Given the description of an element on the screen output the (x, y) to click on. 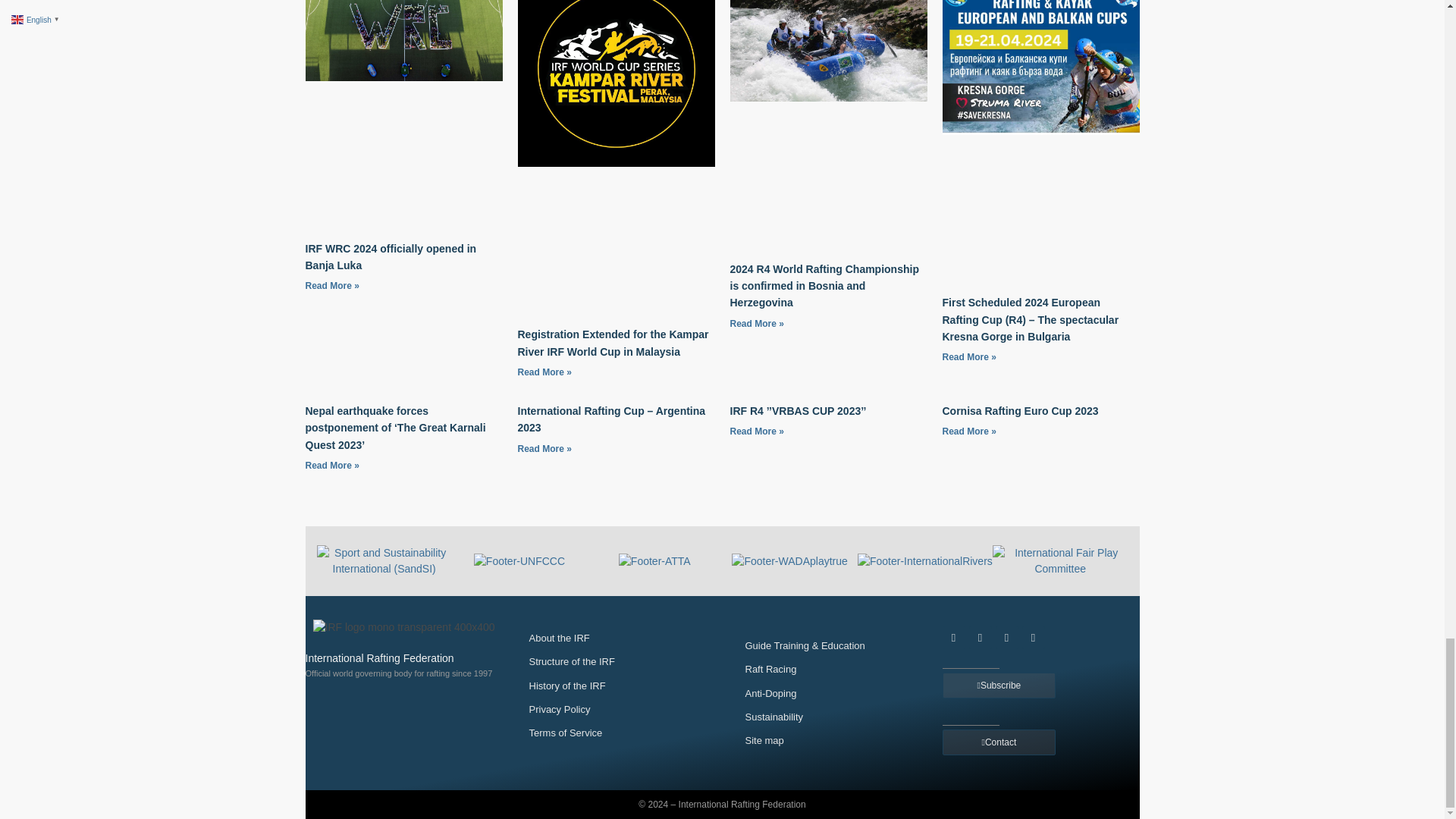
Footer-UNFCCC (519, 561)
Footer-WADAplaytrue (789, 561)
Footer-InternationalRivers (924, 561)
Footer-ATTA (654, 561)
